Given the description of an element on the screen output the (x, y) to click on. 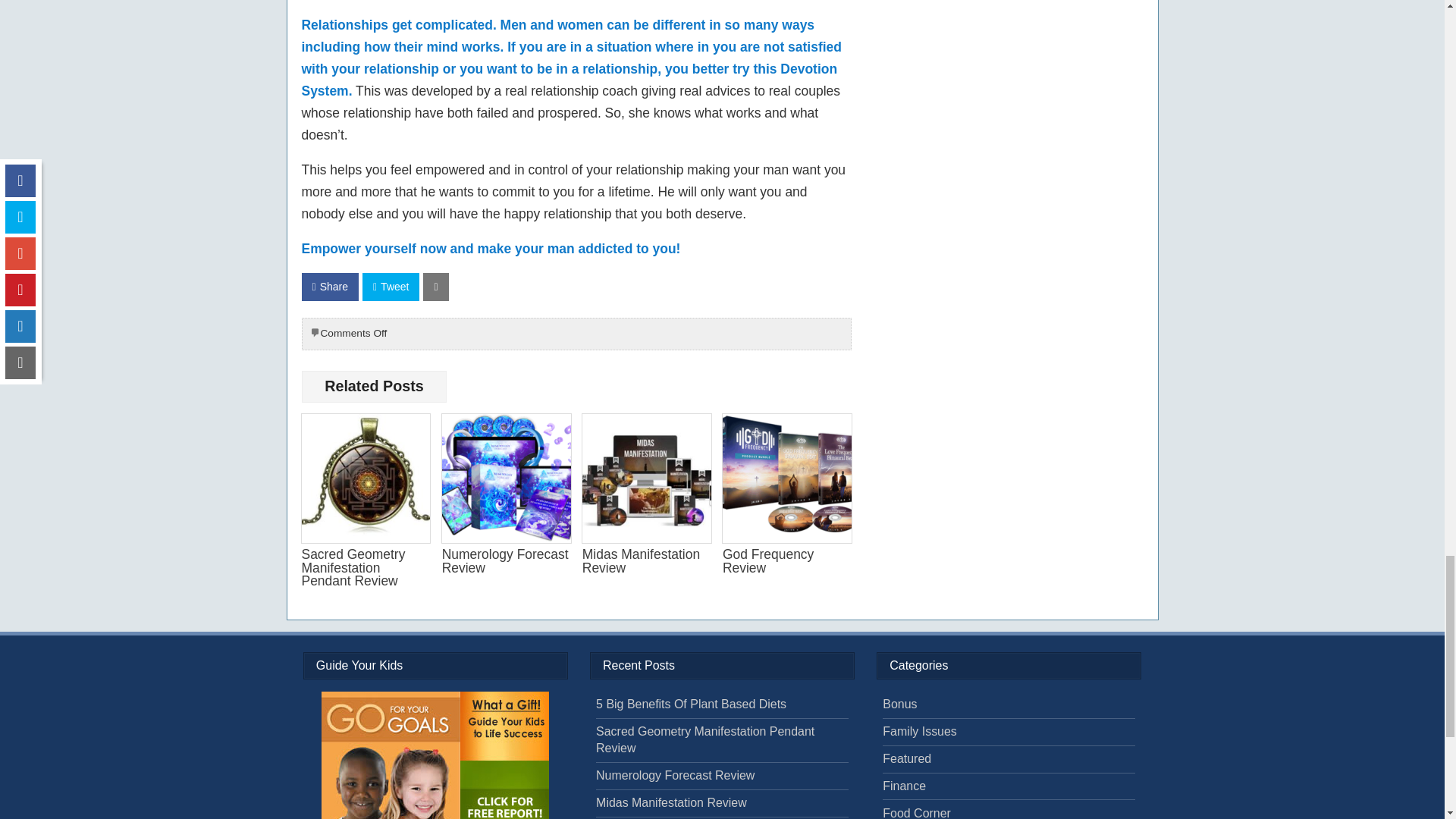
Share On Facebook (329, 286)
Tweet on Twitter (390, 286)
